Given the description of an element on the screen output the (x, y) to click on. 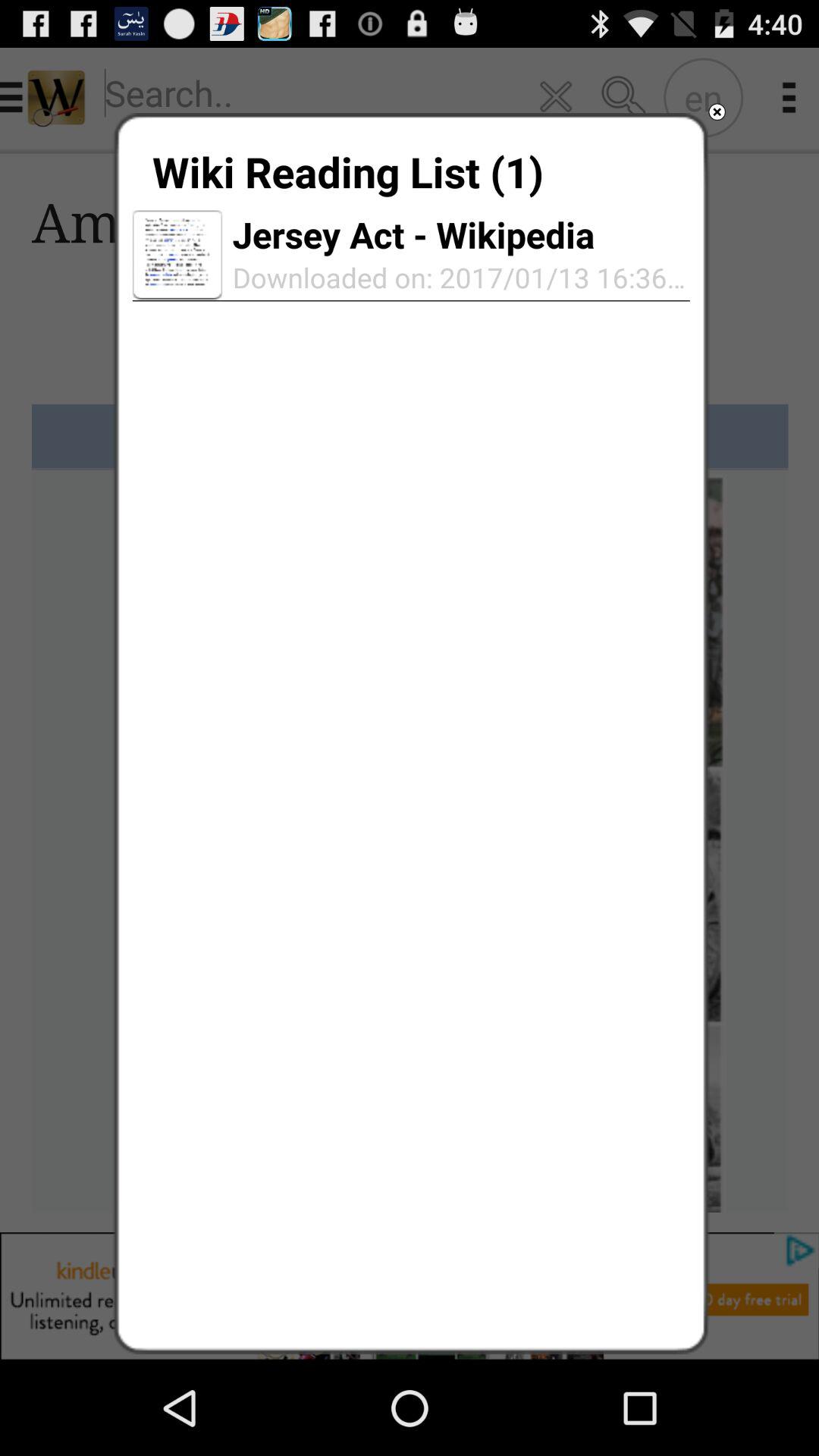
launch app below wiki reading list icon (177, 255)
